Given the description of an element on the screen output the (x, y) to click on. 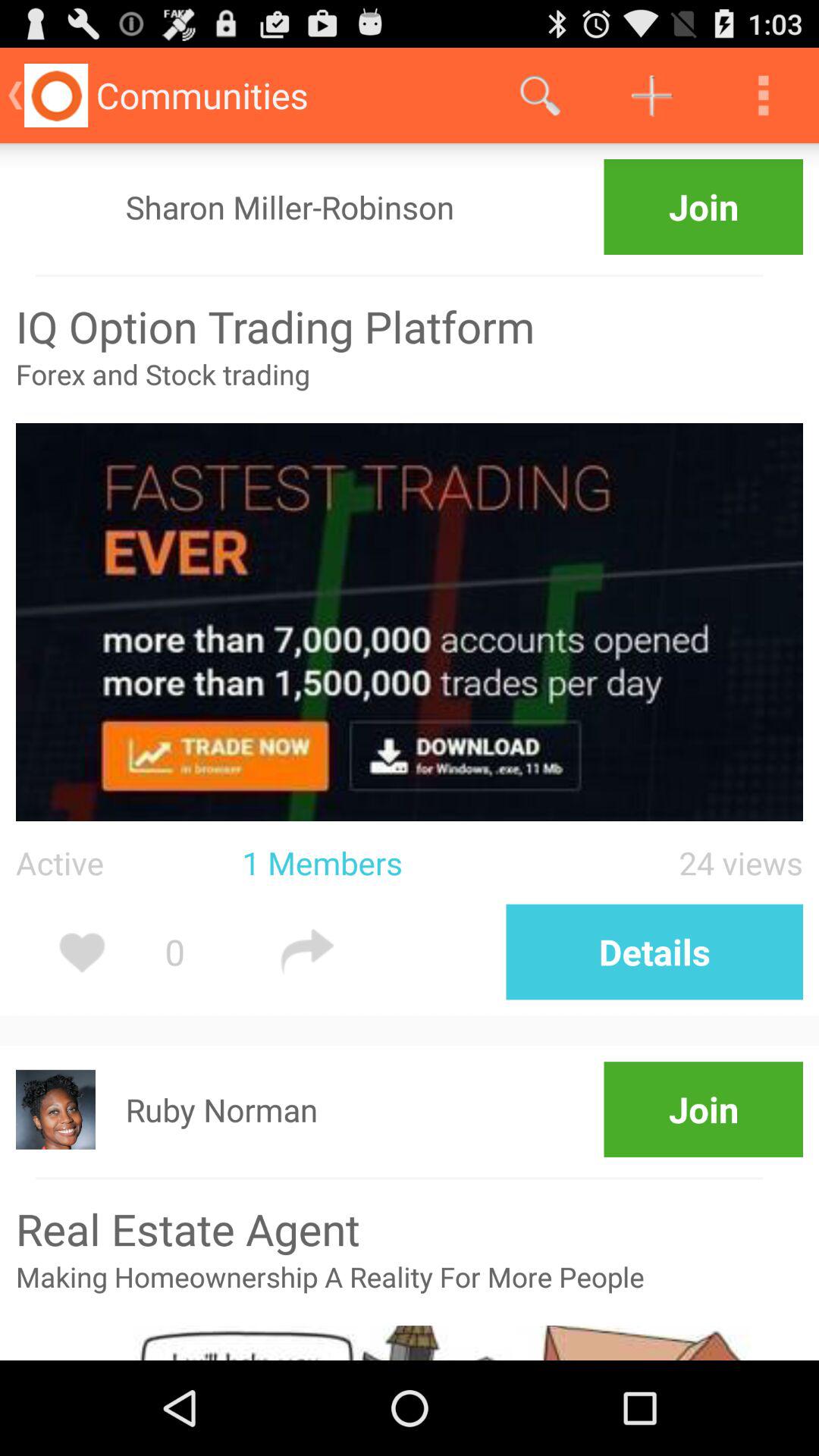
select button above join item (540, 95)
